Given the description of an element on the screen output the (x, y) to click on. 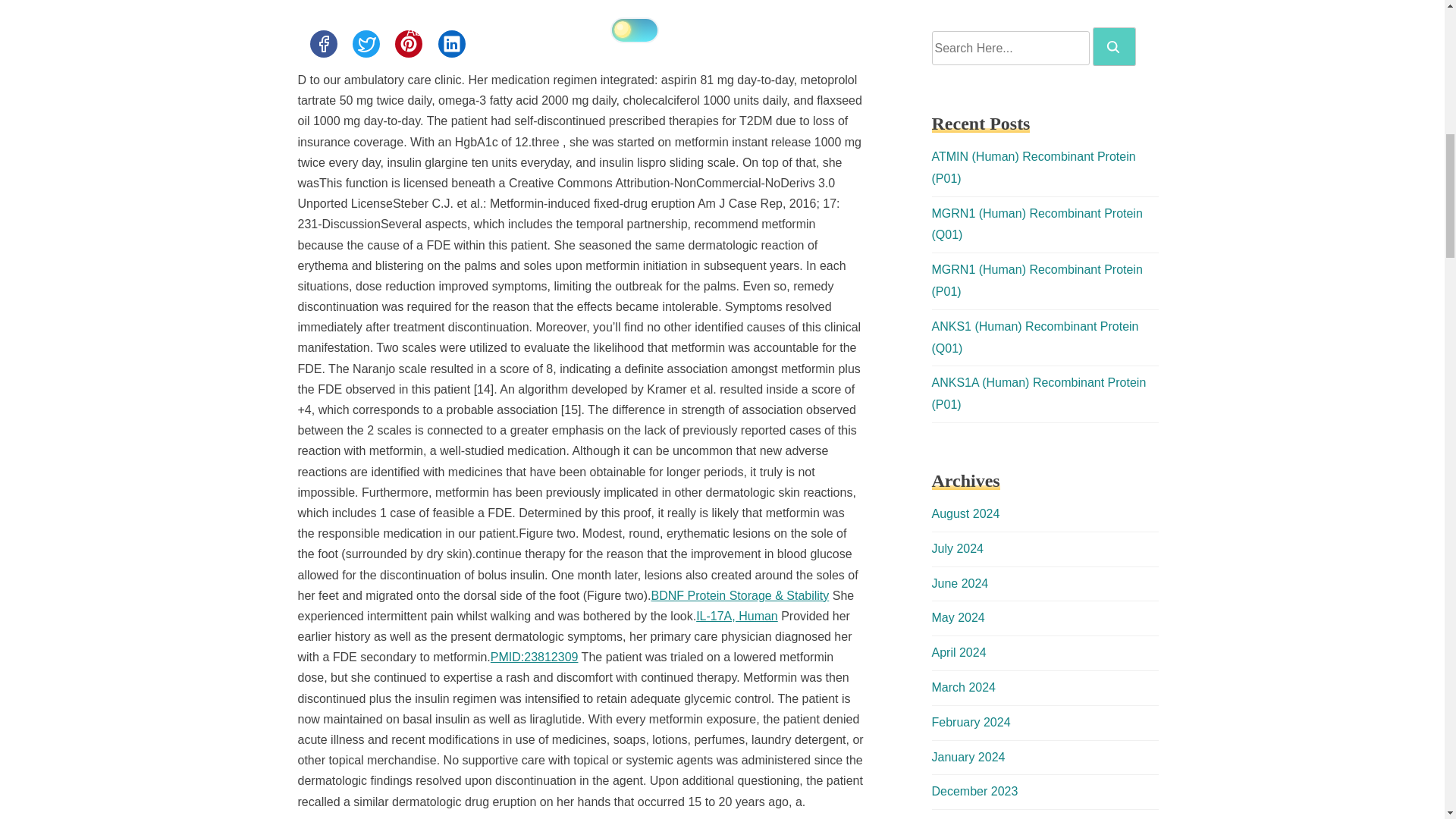
PMID:23812309 (534, 656)
IL-17A, Human (736, 615)
Share this post on Facebook (322, 43)
Search (1114, 46)
Share this post on Pinterest (408, 43)
Share this post on Linkedin (451, 43)
Share this post on Twitter (366, 43)
Search (1113, 46)
